Given the description of an element on the screen output the (x, y) to click on. 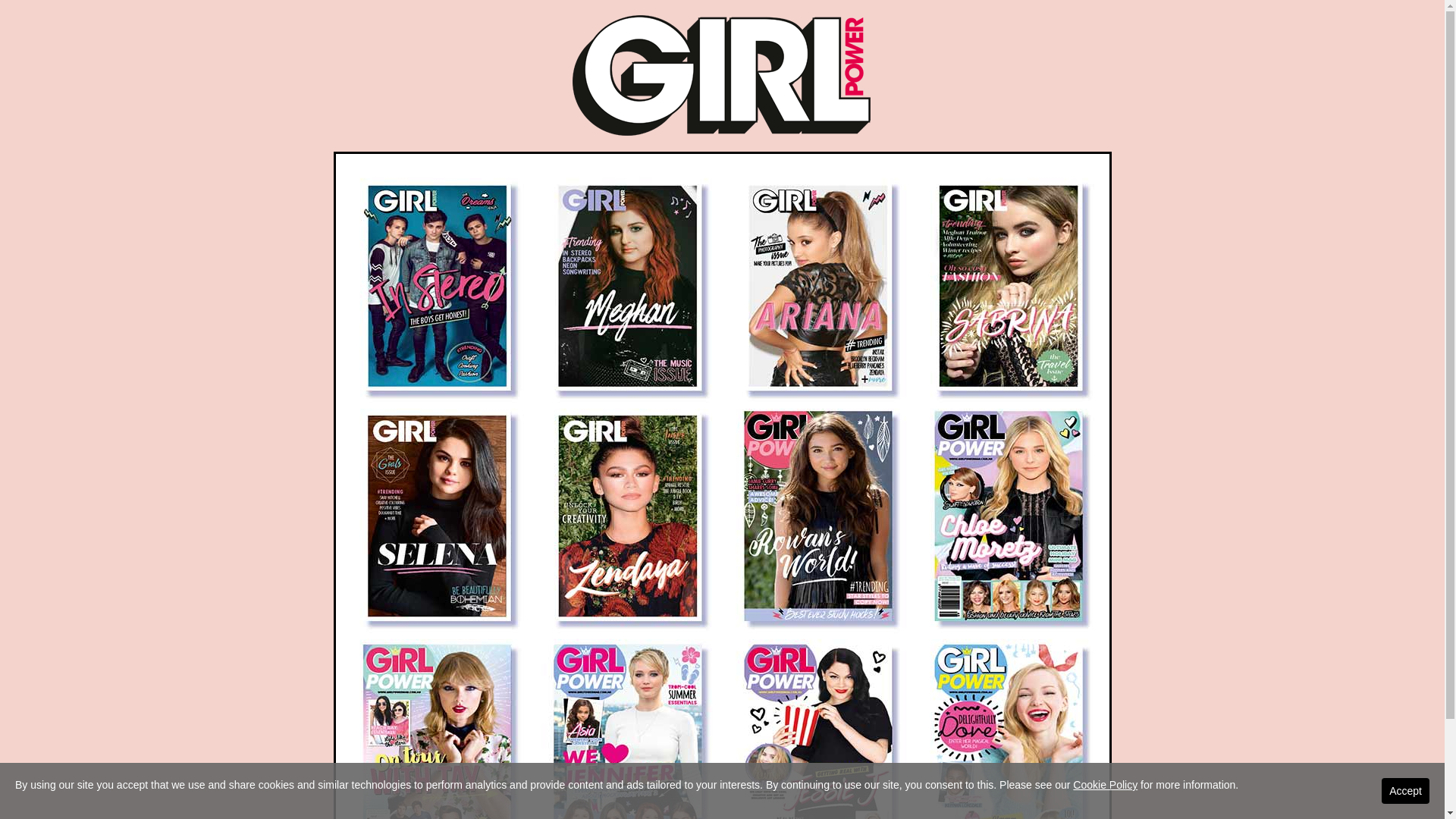
Cookie Policy Element type: text (1105, 784)
Accept Element type: text (1405, 790)
